Given the description of an element on the screen output the (x, y) to click on. 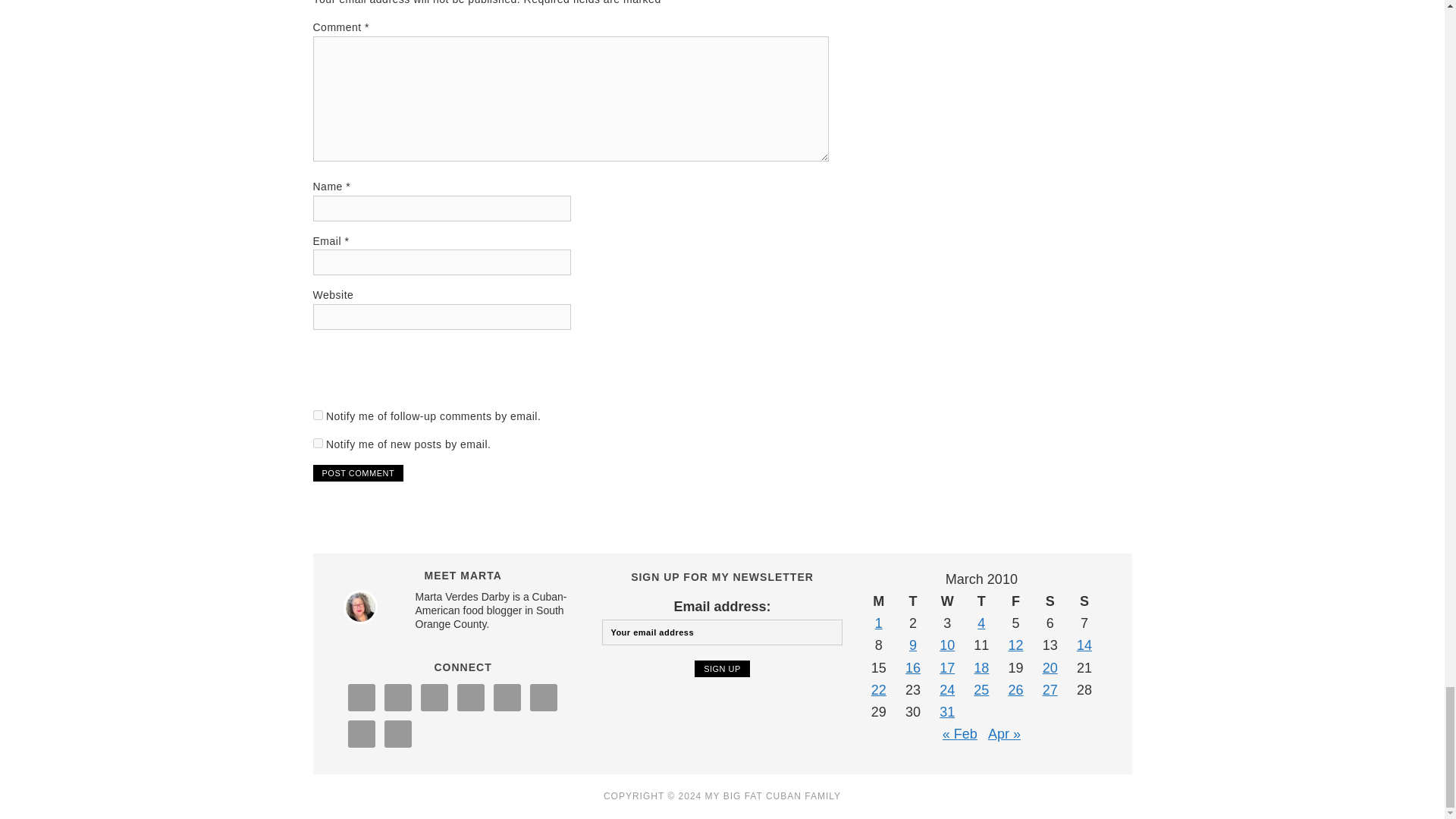
reCAPTCHA (428, 370)
Sunday (1083, 601)
Post Comment (358, 473)
Wednesday (946, 601)
Saturday (1049, 601)
subscribe (317, 442)
subscribe (317, 415)
Thursday (980, 601)
Monday (878, 601)
Friday (1015, 601)
